Given the description of an element on the screen output the (x, y) to click on. 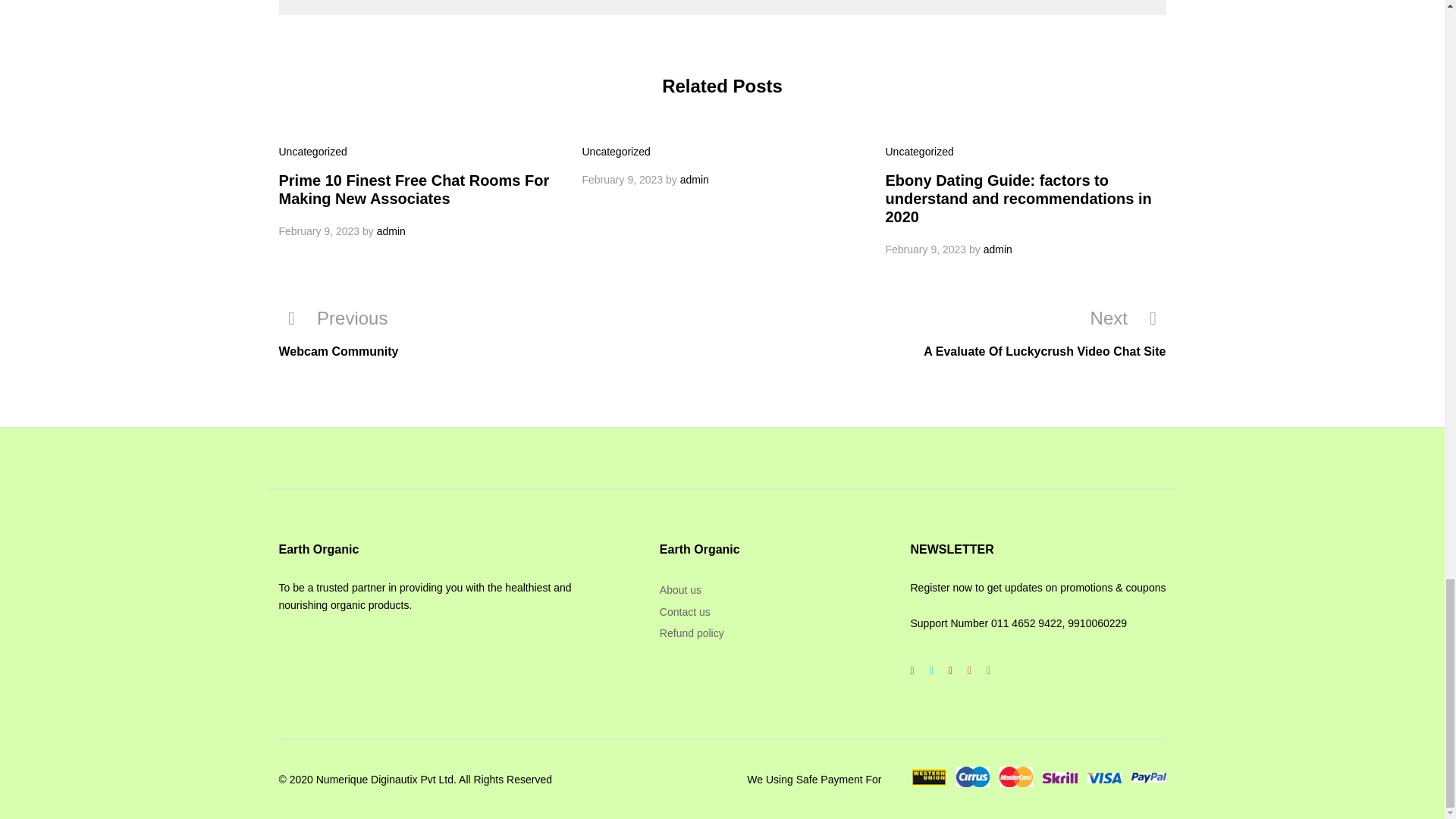
Twitter (930, 669)
Youtube (968, 669)
admin (694, 179)
Facebook (911, 669)
Uncategorized (313, 151)
Google Plus (949, 669)
Uncategorized (616, 151)
Instagram (987, 669)
February 9, 2023 (319, 231)
admin (391, 231)
Uncategorized (919, 151)
Prime 10 Finest Free Chat Rooms For Making New Associates (414, 189)
February 9, 2023 (622, 179)
